Given the description of an element on the screen output the (x, y) to click on. 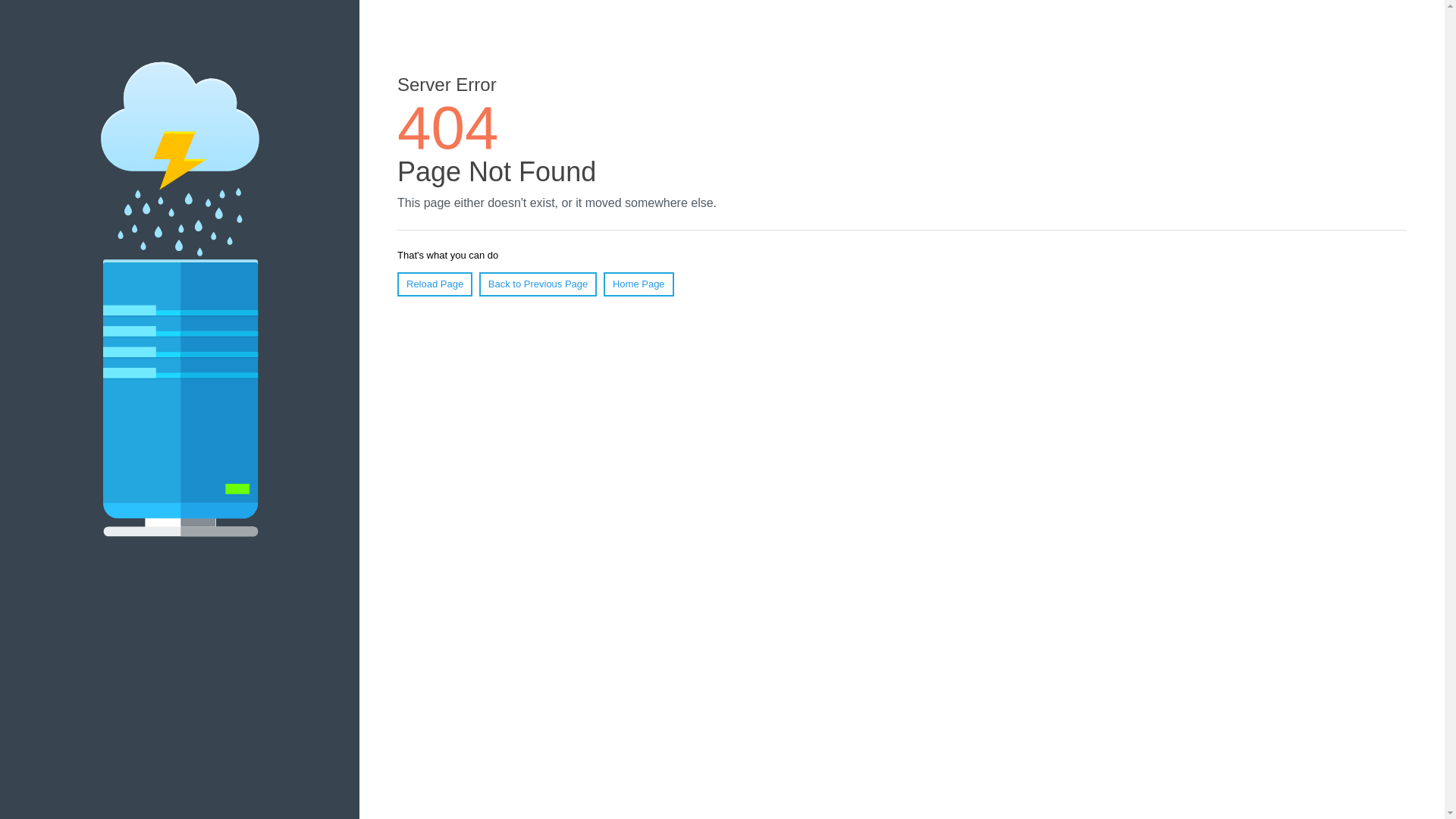
Home Page Element type: text (638, 284)
Back to Previous Page Element type: text (538, 284)
Reload Page Element type: text (434, 284)
